Given the description of an element on the screen output the (x, y) to click on. 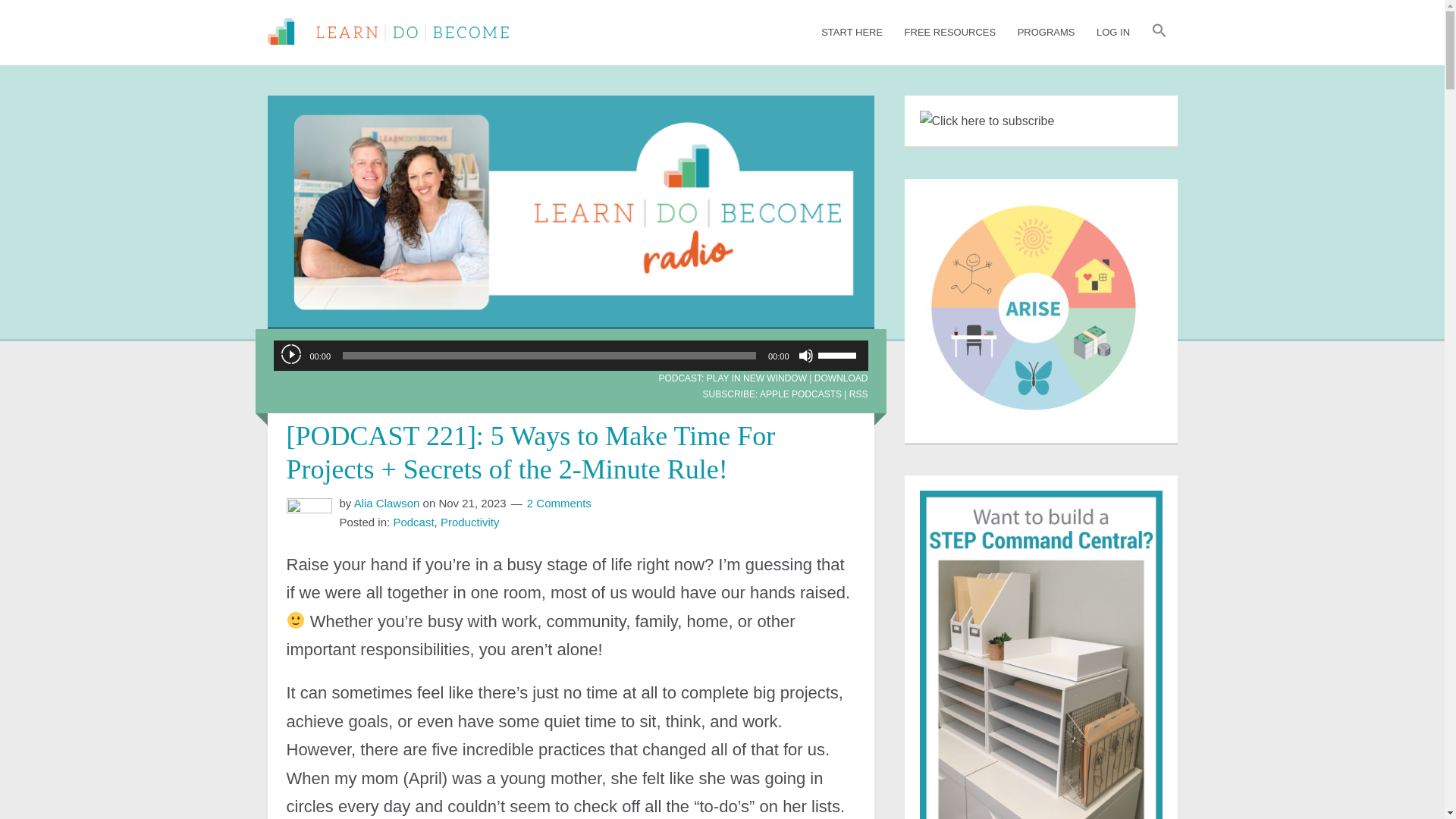
Alia Clawson (386, 502)
Search (1133, 35)
Download (840, 378)
Subscribe on Apple Podcasts (800, 394)
RSS (857, 394)
PROGRAMS (1046, 32)
FREE RESOURCES (950, 32)
PLAY IN NEW WINDOW (756, 378)
Mute (804, 355)
Play (290, 353)
APPLE PODCASTS (800, 394)
2 Comments (559, 502)
Podcast (413, 521)
START HERE (851, 32)
DOWNLOAD (840, 378)
